Given the description of an element on the screen output the (x, y) to click on. 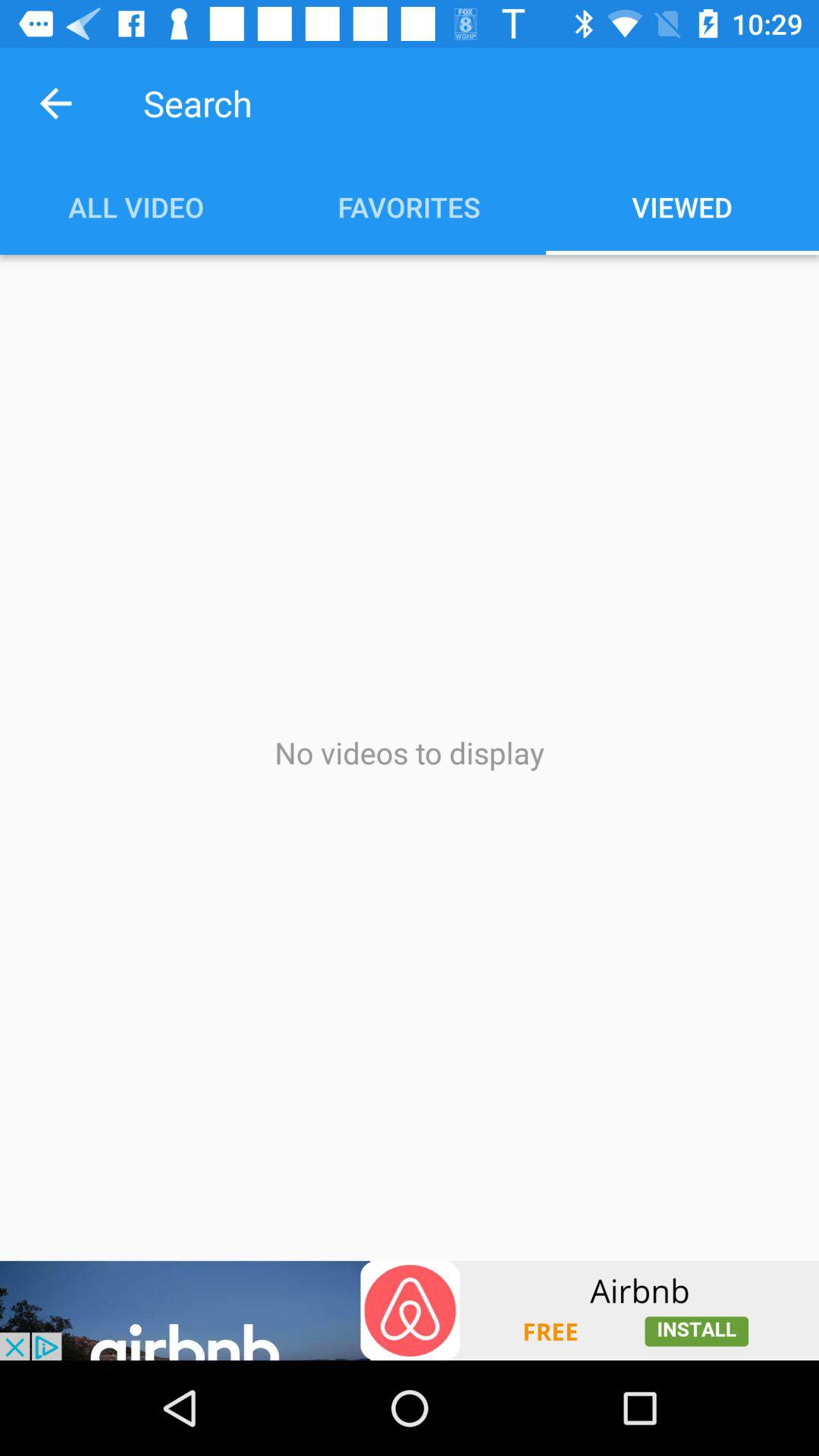
go to add source (409, 1310)
